Given the description of an element on the screen output the (x, y) to click on. 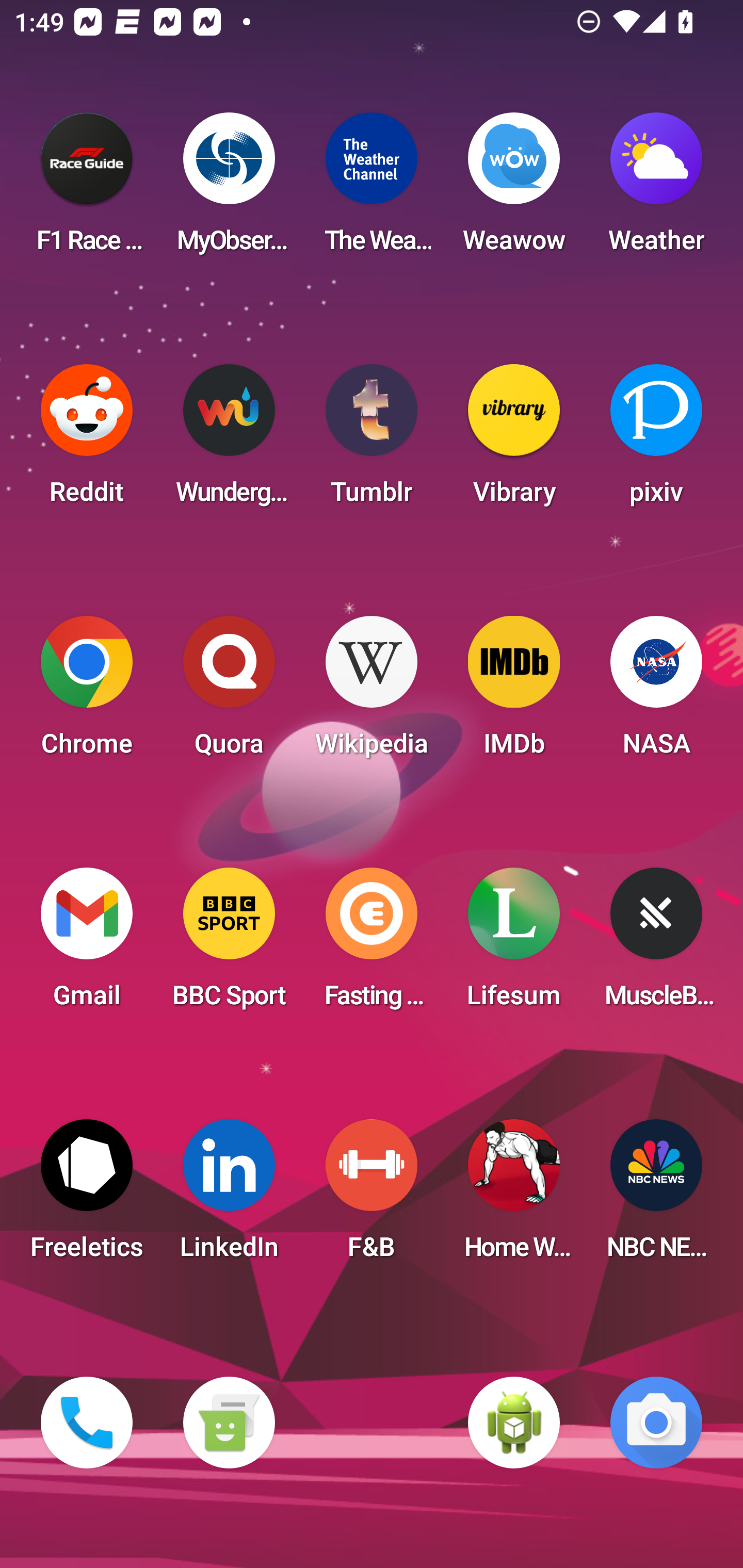
F1 Race Guide (86, 188)
MyObservatory (228, 188)
The Weather Channel (371, 188)
Weawow (513, 188)
Weather (656, 188)
Reddit (86, 440)
Wunderground (228, 440)
Tumblr (371, 440)
Vibrary (513, 440)
pixiv (656, 440)
Chrome (86, 692)
Quora (228, 692)
Wikipedia (371, 692)
IMDb (513, 692)
NASA (656, 692)
Gmail (86, 943)
BBC Sport (228, 943)
Fasting Coach (371, 943)
Lifesum (513, 943)
MuscleBooster (656, 943)
Freeletics (86, 1195)
LinkedIn (228, 1195)
F&B (371, 1195)
Home Workout (513, 1195)
NBC NEWS (656, 1195)
Phone (86, 1422)
Messaging (228, 1422)
WebView Browser Tester (513, 1422)
Camera (656, 1422)
